Given the description of an element on the screen output the (x, y) to click on. 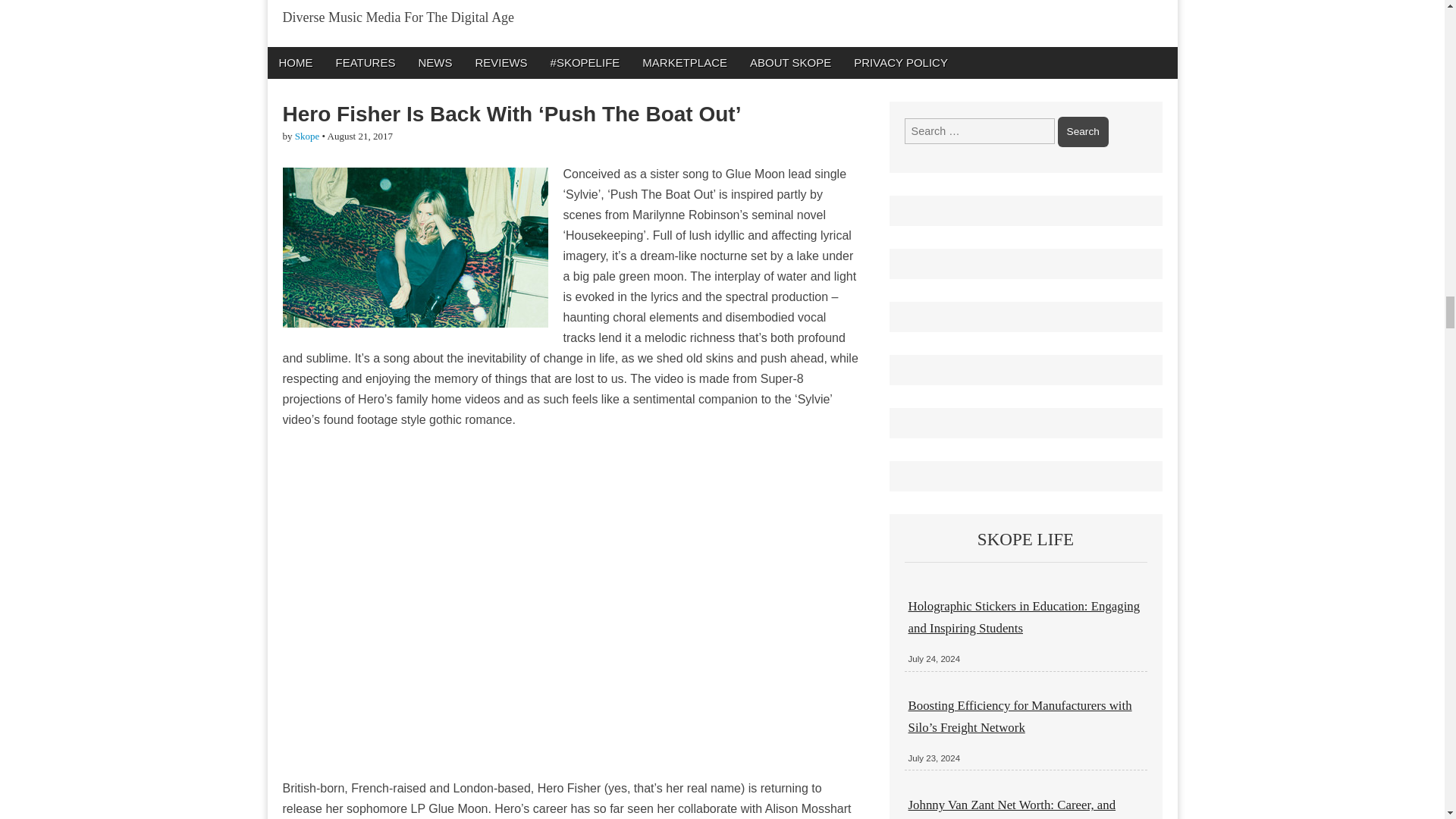
MARKETPLACE (684, 61)
ABOUT SKOPE (790, 61)
HOME (294, 61)
NEWS (434, 61)
Search (1083, 132)
Search (1083, 132)
PRIVACY POLICY (901, 61)
FEATURES (365, 61)
Posts by Skope (307, 135)
Search (1083, 132)
REVIEWS (500, 61)
Skope (307, 135)
Johnny Van Zant Net Worth: Career, and Legacy (1012, 808)
